Given the description of an element on the screen output the (x, y) to click on. 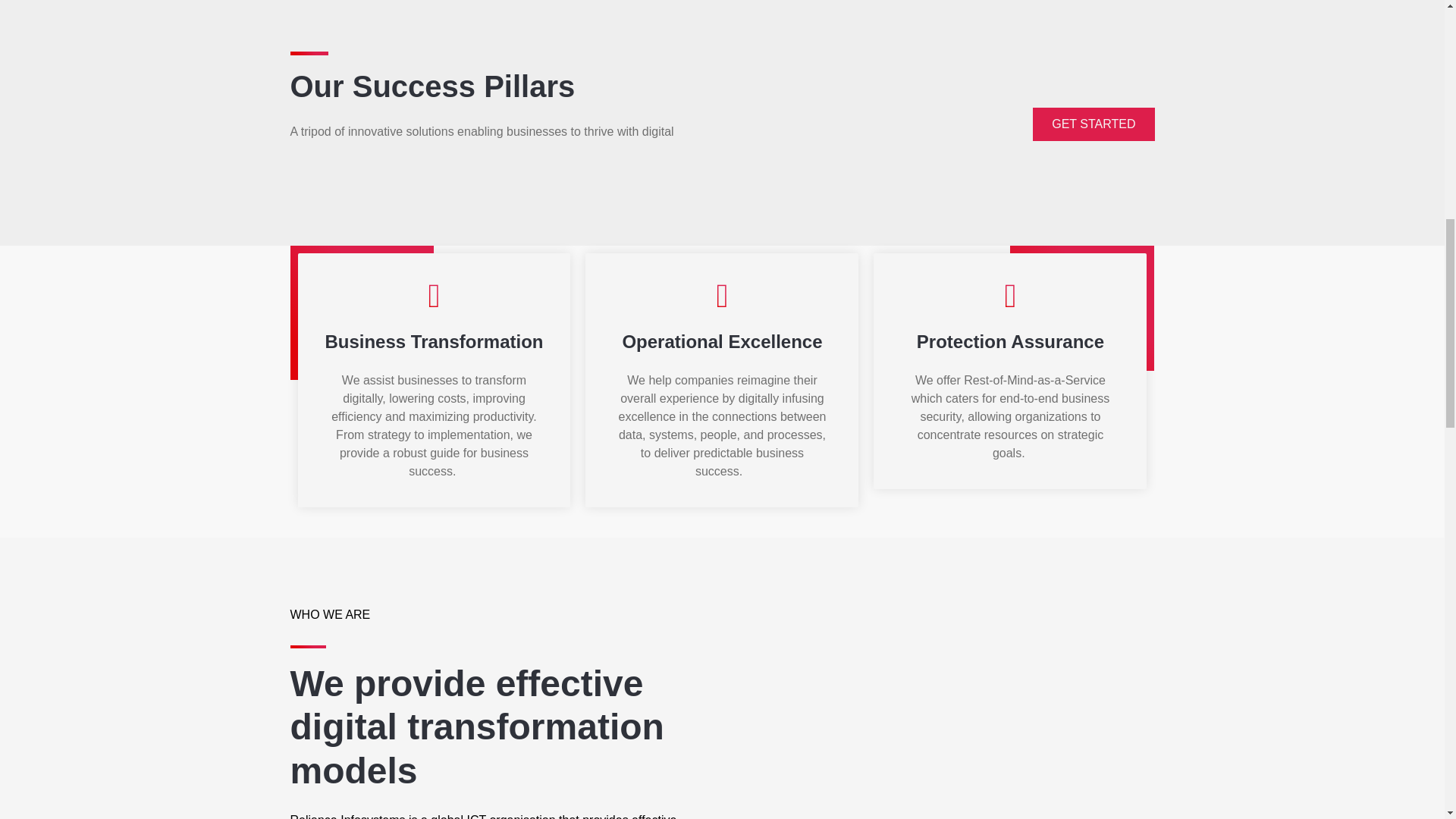
GET STARTED (1093, 123)
